Given the description of an element on the screen output the (x, y) to click on. 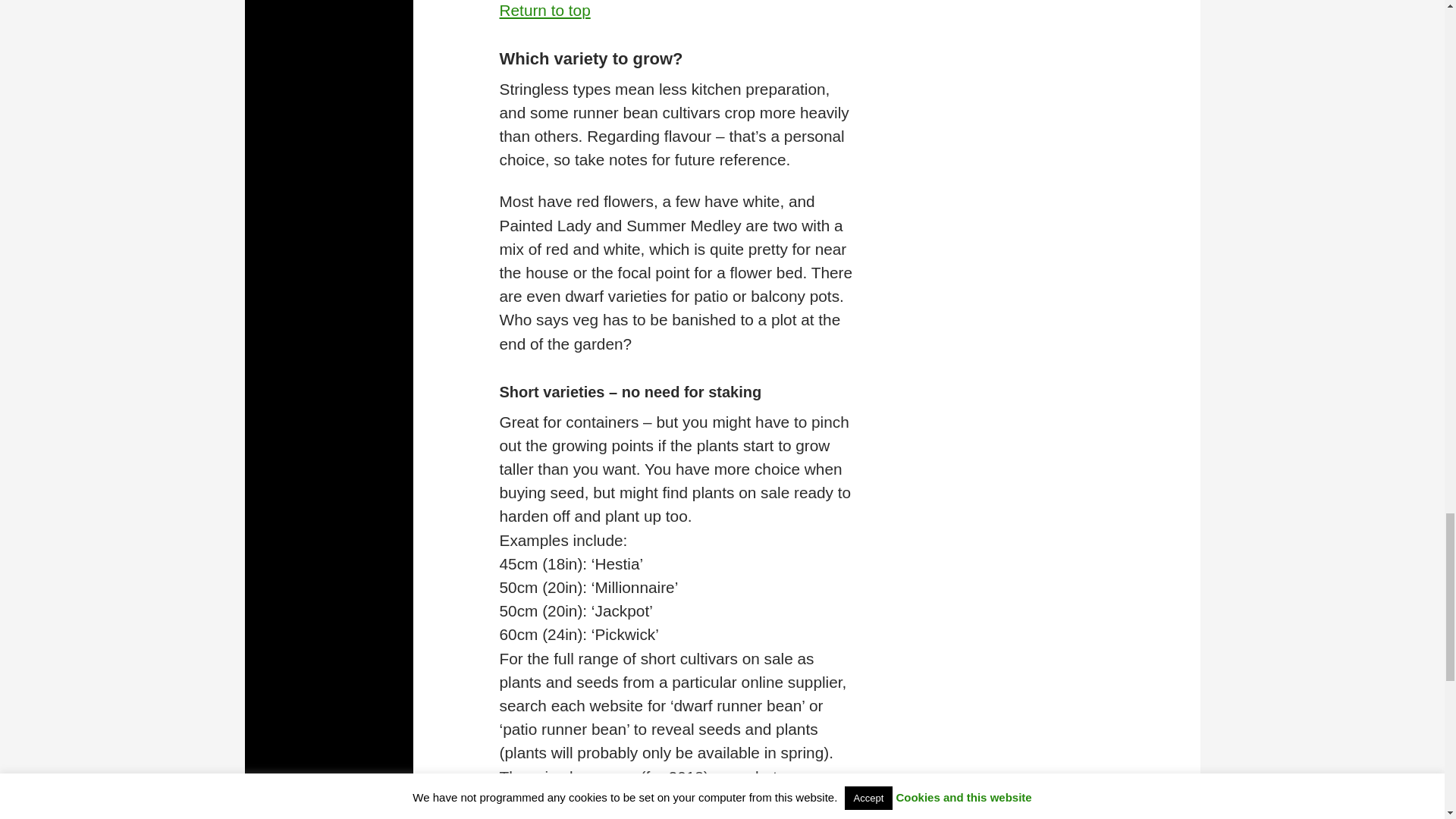
Visit, browse or buy - from Suttons (649, 816)
Suttons Seeds (649, 816)
Return to top (545, 9)
Thompson and Morgan (670, 816)
Visit, browse or buy - from Thompson and Morgan (670, 816)
